Given the description of an element on the screen output the (x, y) to click on. 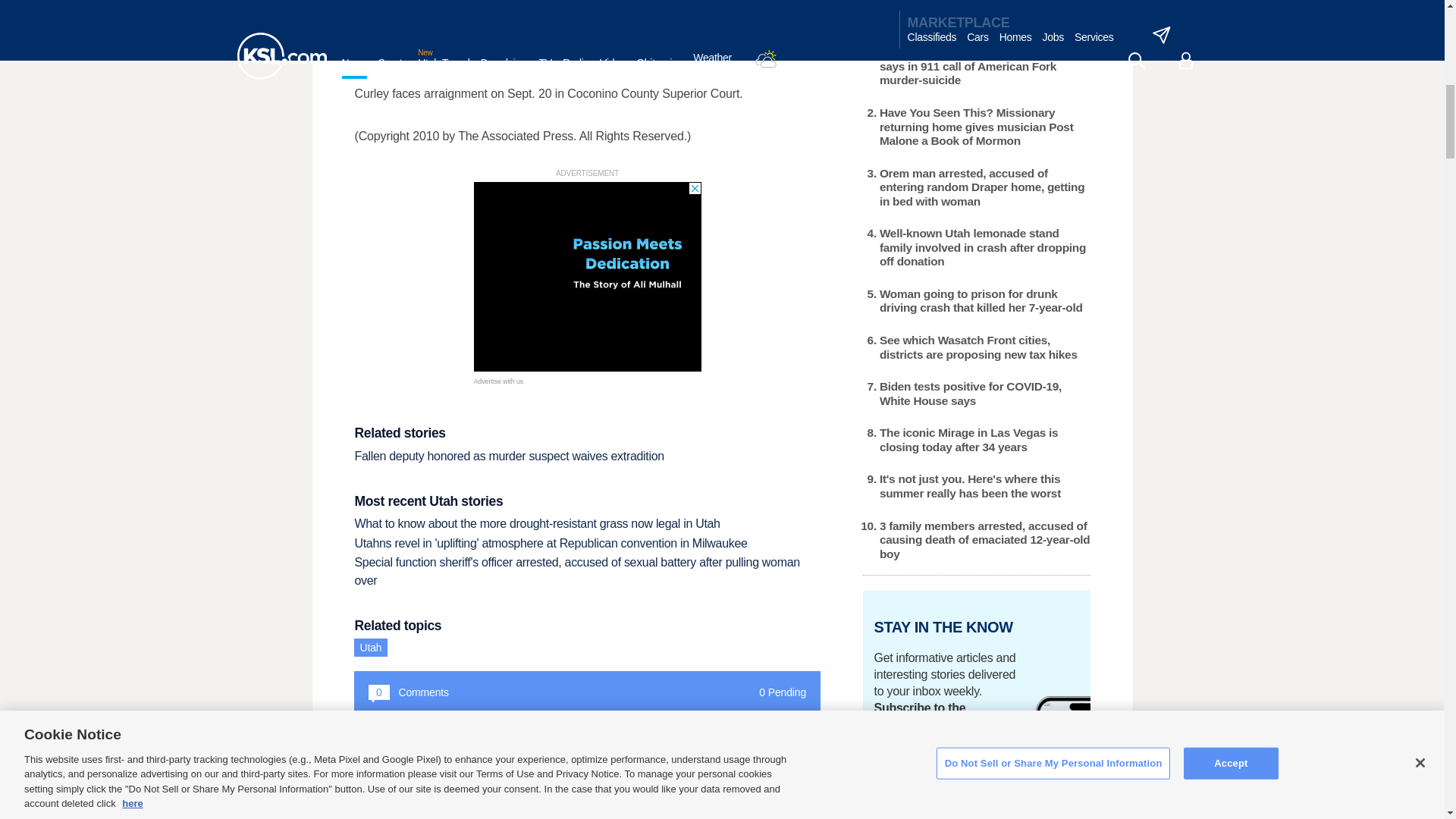
3rd party ad content (586, 276)
